Given the description of an element on the screen output the (x, y) to click on. 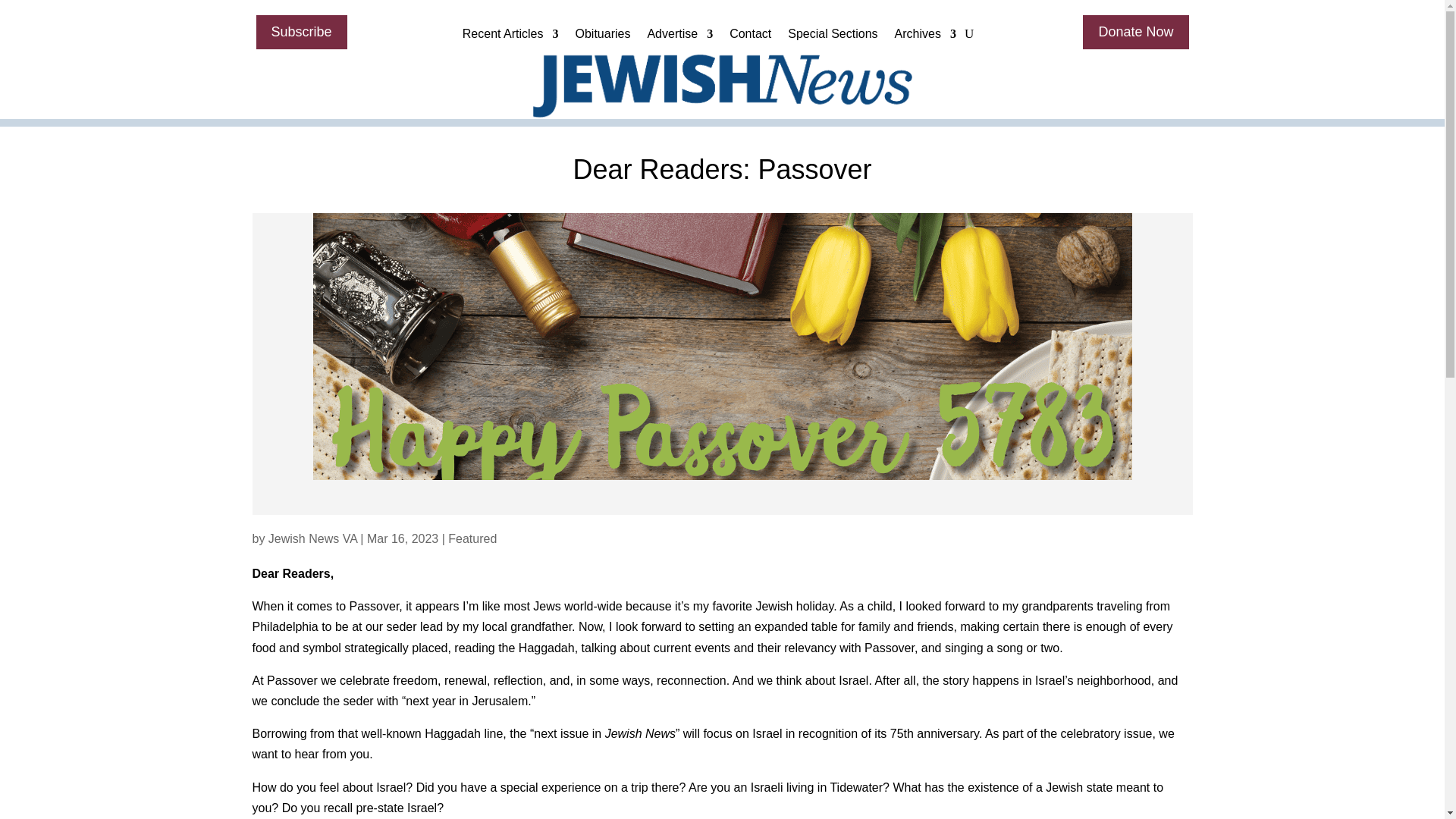
Obituaries (602, 37)
Advertise (679, 37)
Recent Articles (511, 37)
Archives (925, 37)
Special Sections (832, 37)
Posts by Jewish News VA (311, 538)
Subscribe (301, 32)
Donate Now (1135, 32)
Contact (750, 37)
